Given the description of an element on the screen output the (x, y) to click on. 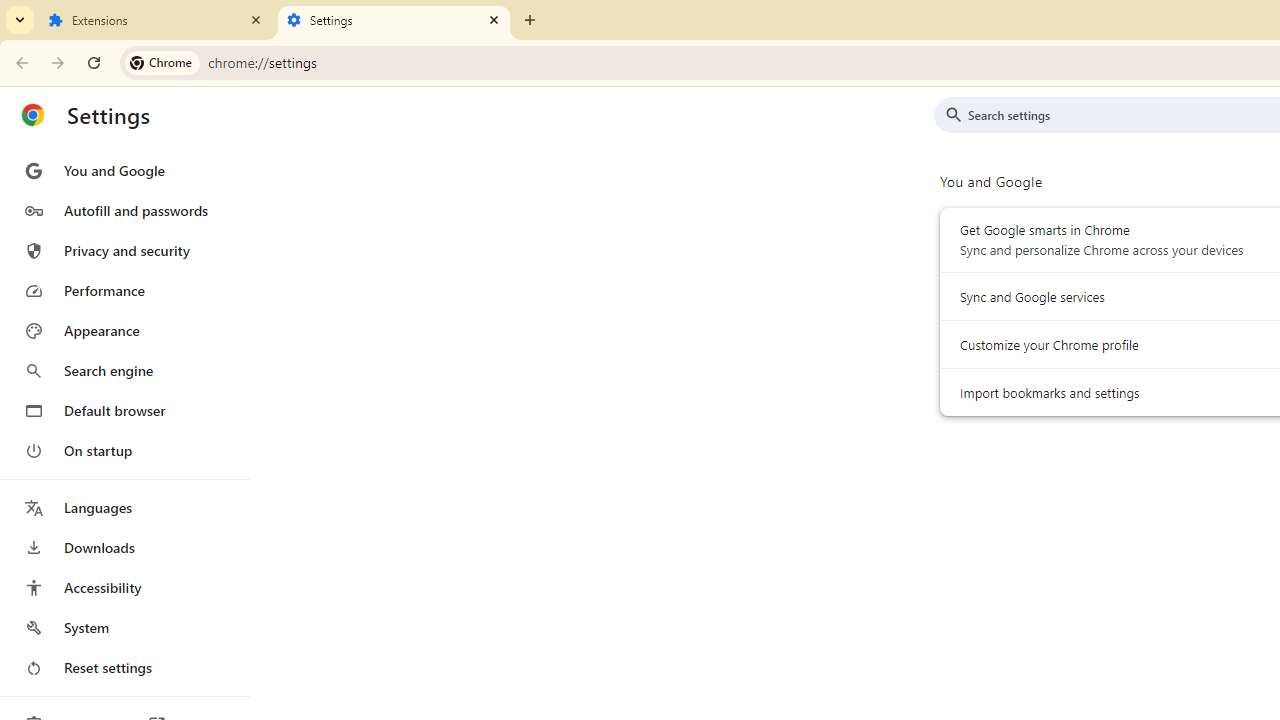
On startup (124, 450)
Downloads (124, 547)
Privacy and security (124, 250)
Accessibility (124, 587)
You and Google (124, 170)
Extensions (156, 20)
